Given the description of an element on the screen output the (x, y) to click on. 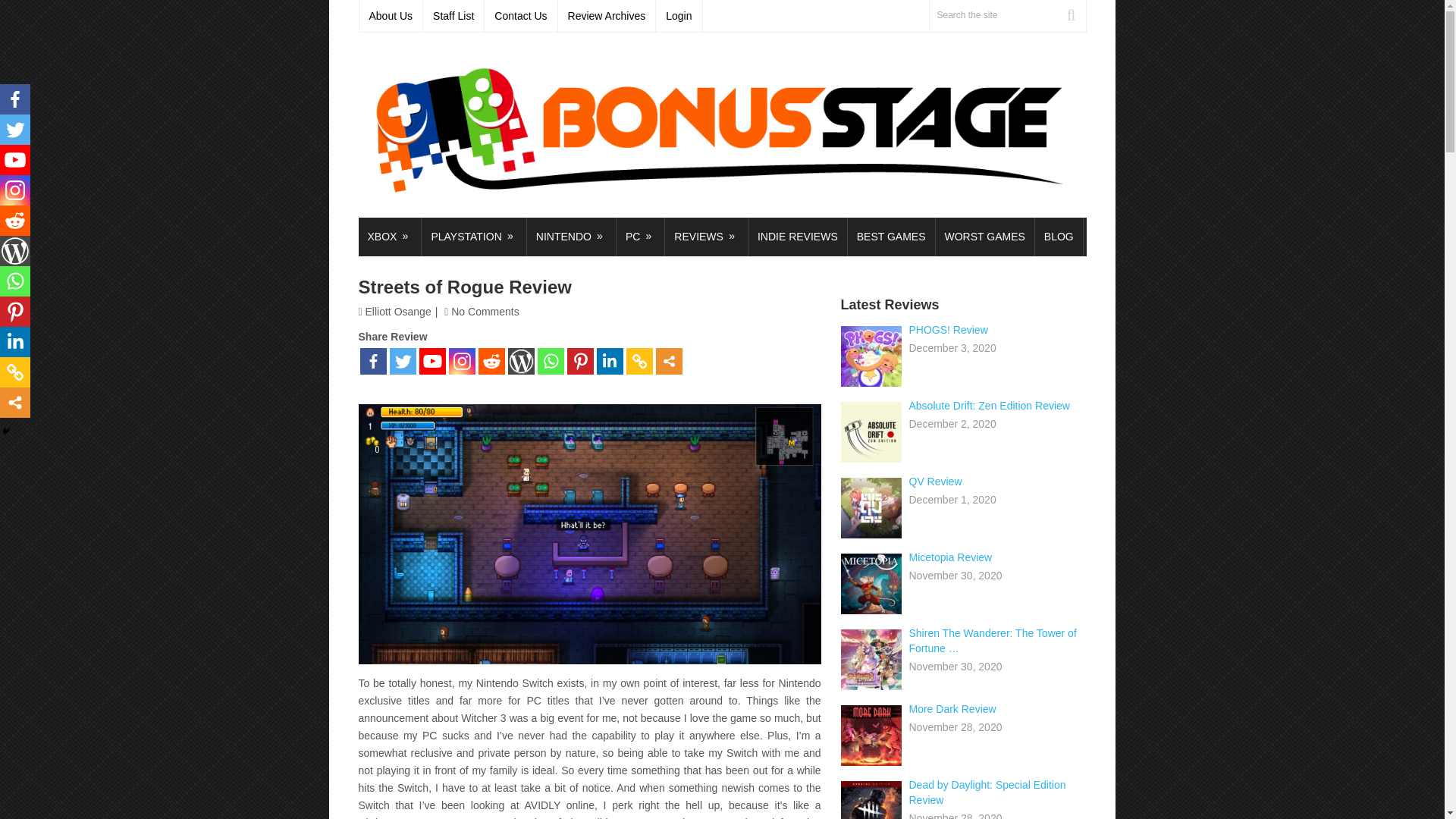
Review Archives (606, 15)
NINTENDO (571, 236)
PLAYSTATION (473, 236)
Login (678, 15)
REVIEWS (706, 236)
XBOX (389, 236)
Contact Us (520, 15)
PC (639, 236)
Staff List (453, 15)
About Us (391, 15)
